Given the description of an element on the screen output the (x, y) to click on. 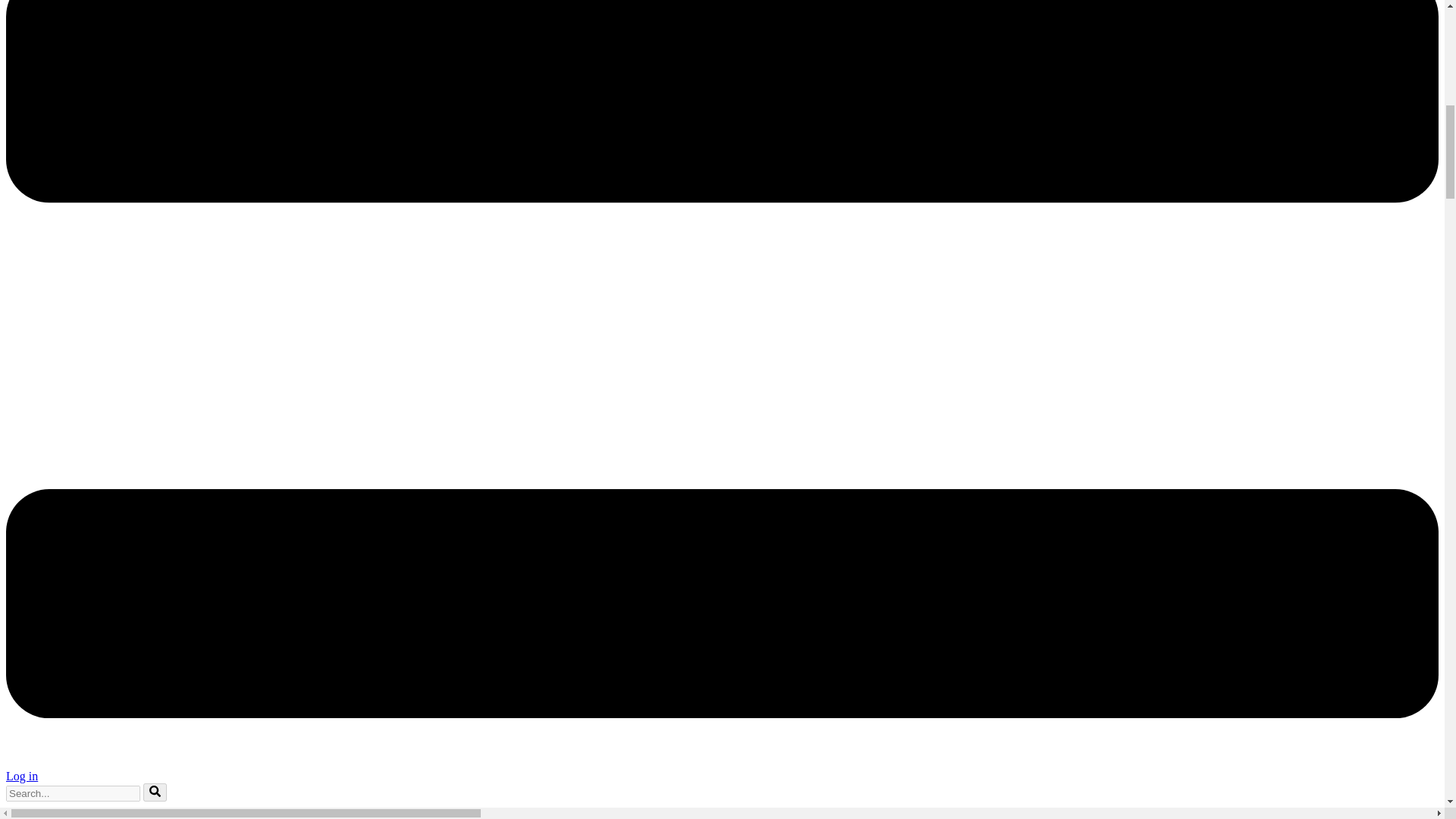
Log in (21, 775)
Latest (50, 816)
